Given the description of an element on the screen output the (x, y) to click on. 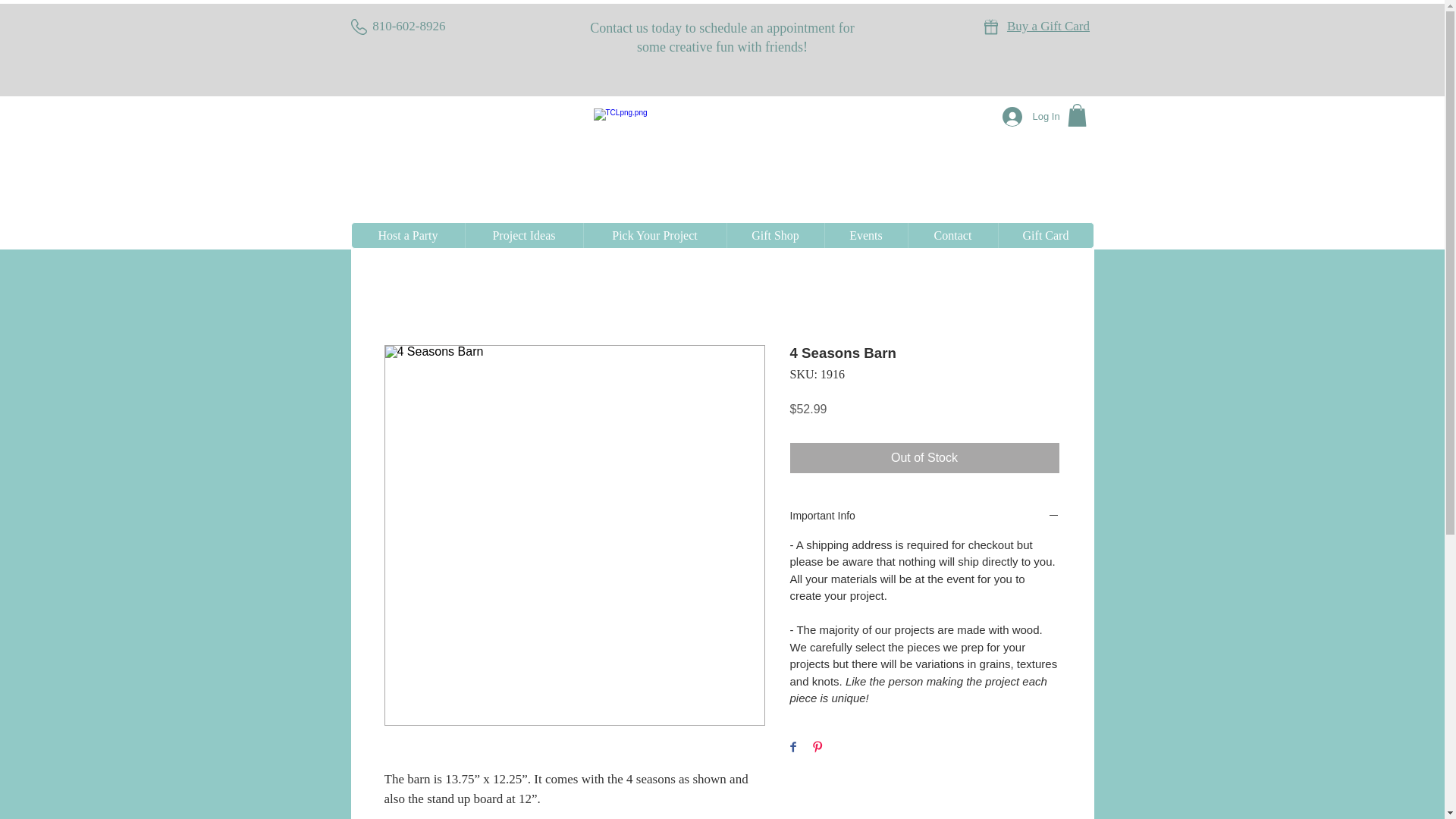
Out of Stock (924, 458)
Buy a Gift Card (1048, 25)
Events (865, 235)
Host a Party (408, 235)
810-602-8926 (408, 25)
Gift Card (1045, 235)
Contact (952, 235)
Pick Your Project (653, 235)
Project Ideas (523, 235)
Log In (1022, 116)
Gift Shop (775, 235)
Important Info (924, 516)
